Given the description of an element on the screen output the (x, y) to click on. 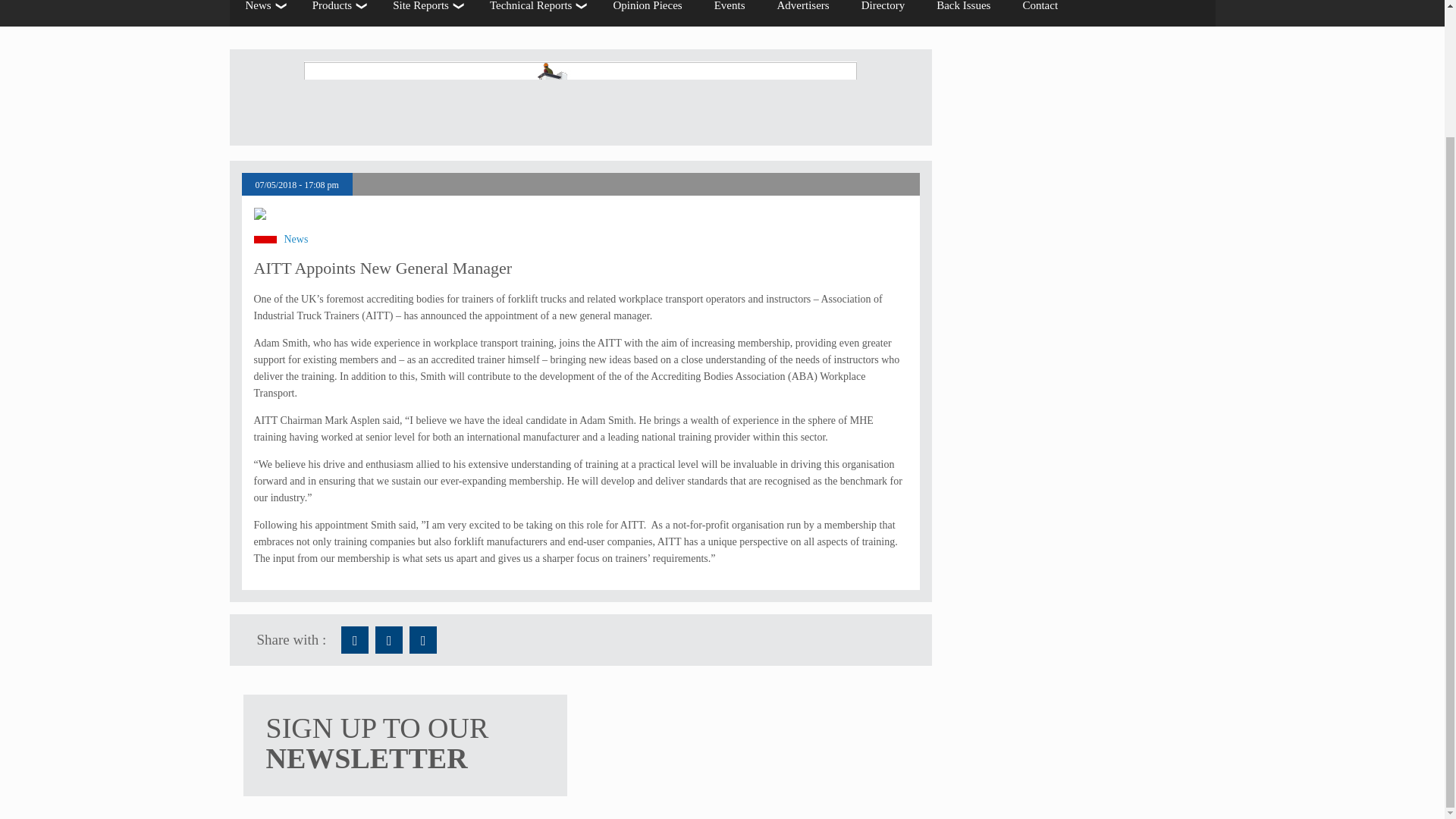
News (261, 13)
Products (337, 13)
Site Reports (425, 13)
Lift and Hoist Australia  LinkedIn (422, 639)
Lift and Hoist Australia  Facebook (354, 639)
